Given the description of an element on the screen output the (x, y) to click on. 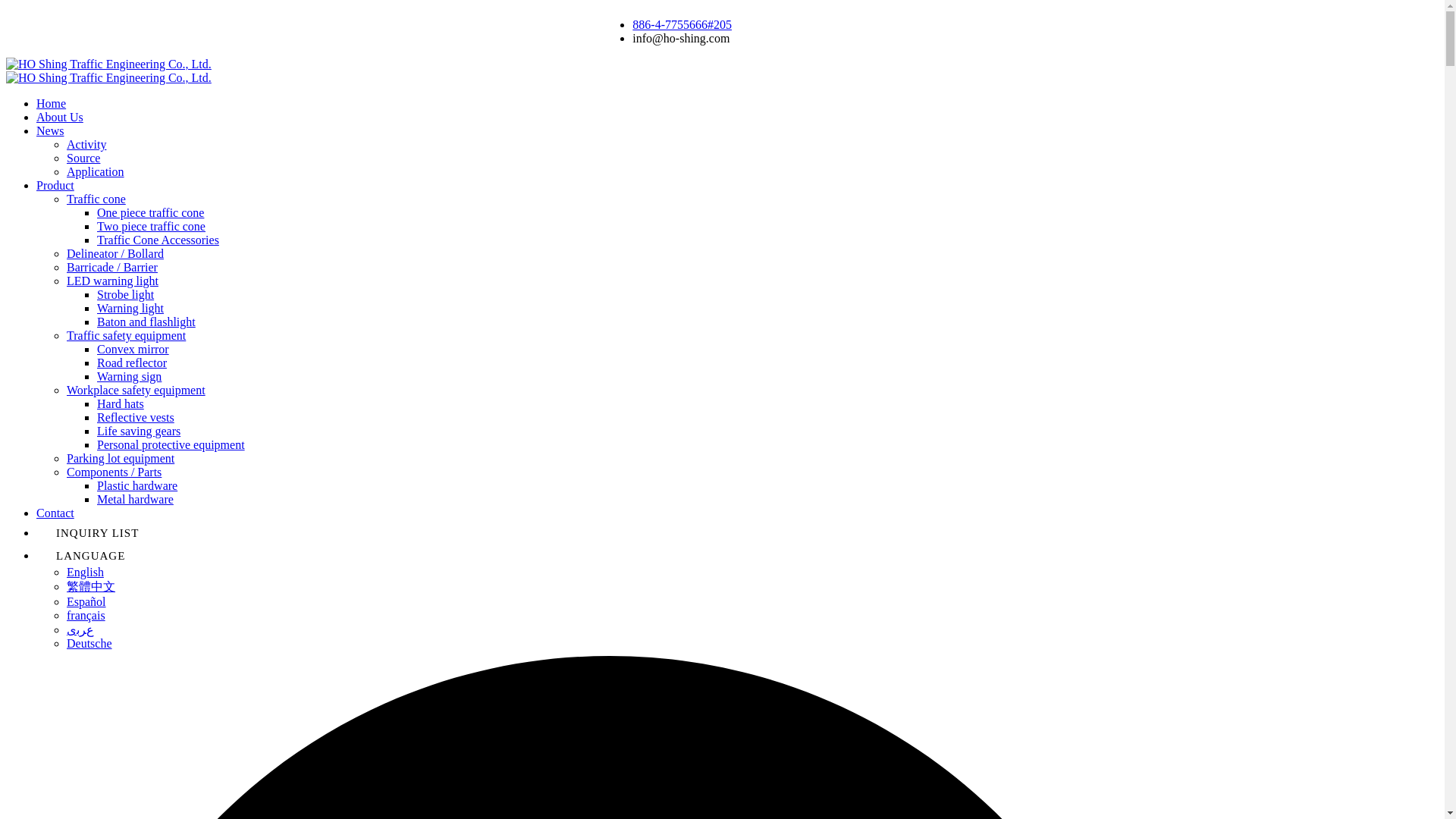
Application (94, 171)
Two piece traffic cone (151, 226)
Traffic safety equipment (126, 335)
Traffic Cone Accessories (158, 239)
Personal protective equipment (170, 444)
Home (50, 103)
Workplace safety equipment (135, 390)
Traffic cone (95, 198)
Strobe light (125, 294)
Traffic cone (95, 198)
